Given the description of an element on the screen output the (x, y) to click on. 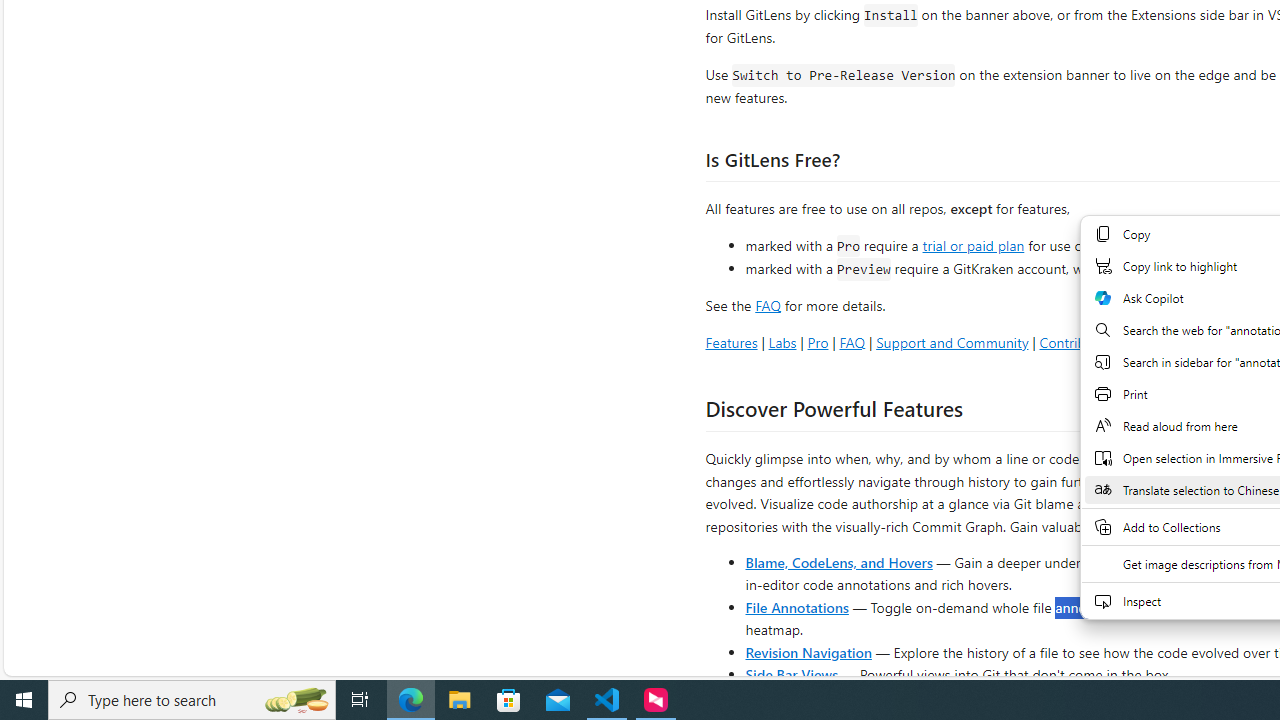
Revision Navigation (807, 651)
Contributors (1167, 341)
License (1240, 341)
Side Bar Views (791, 673)
File Annotations (796, 606)
Support and Community (952, 341)
Contributing (1078, 341)
FAQ (852, 341)
Blame, CodeLens, and Hovers (838, 561)
Features (731, 341)
Labs (782, 341)
trial or paid plan (973, 244)
Pro (817, 341)
